Given the description of an element on the screen output the (x, y) to click on. 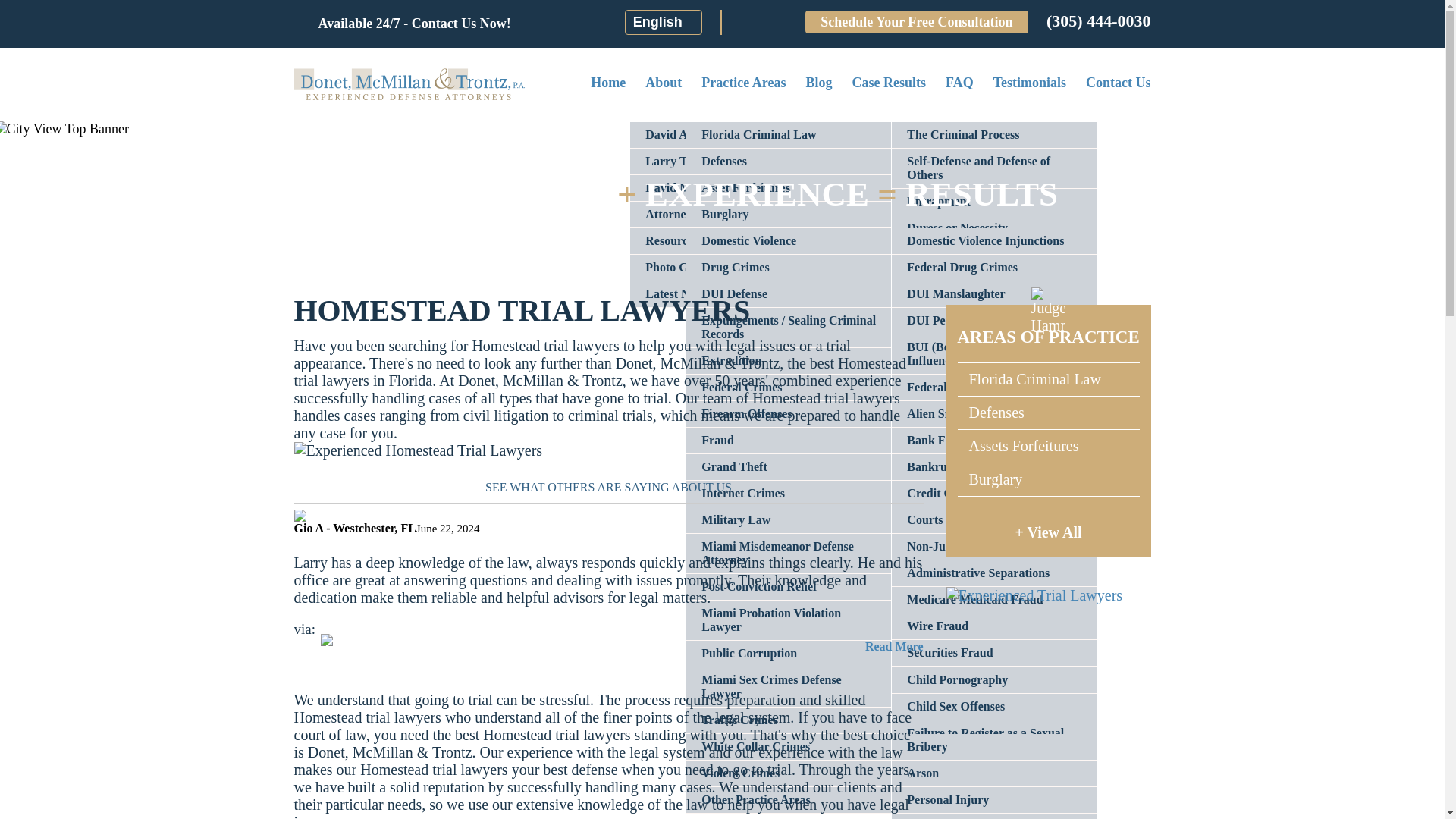
Resources (732, 240)
Miami Criminal Lawyer Resources (732, 240)
Domestic Violence (788, 240)
Sentencing (993, 307)
Drug Possession (993, 294)
Latest News (732, 294)
Pre-Trial Programs (993, 254)
Practice Areas (743, 82)
Violations of Domestic Violence Injunctions (993, 274)
Photo Gallery (732, 267)
Jury Selection (993, 281)
Home (608, 82)
About the Firm: David A. Donet, Jr. (732, 135)
Write a Review (743, 22)
About (663, 82)
